Given the description of an element on the screen output the (x, y) to click on. 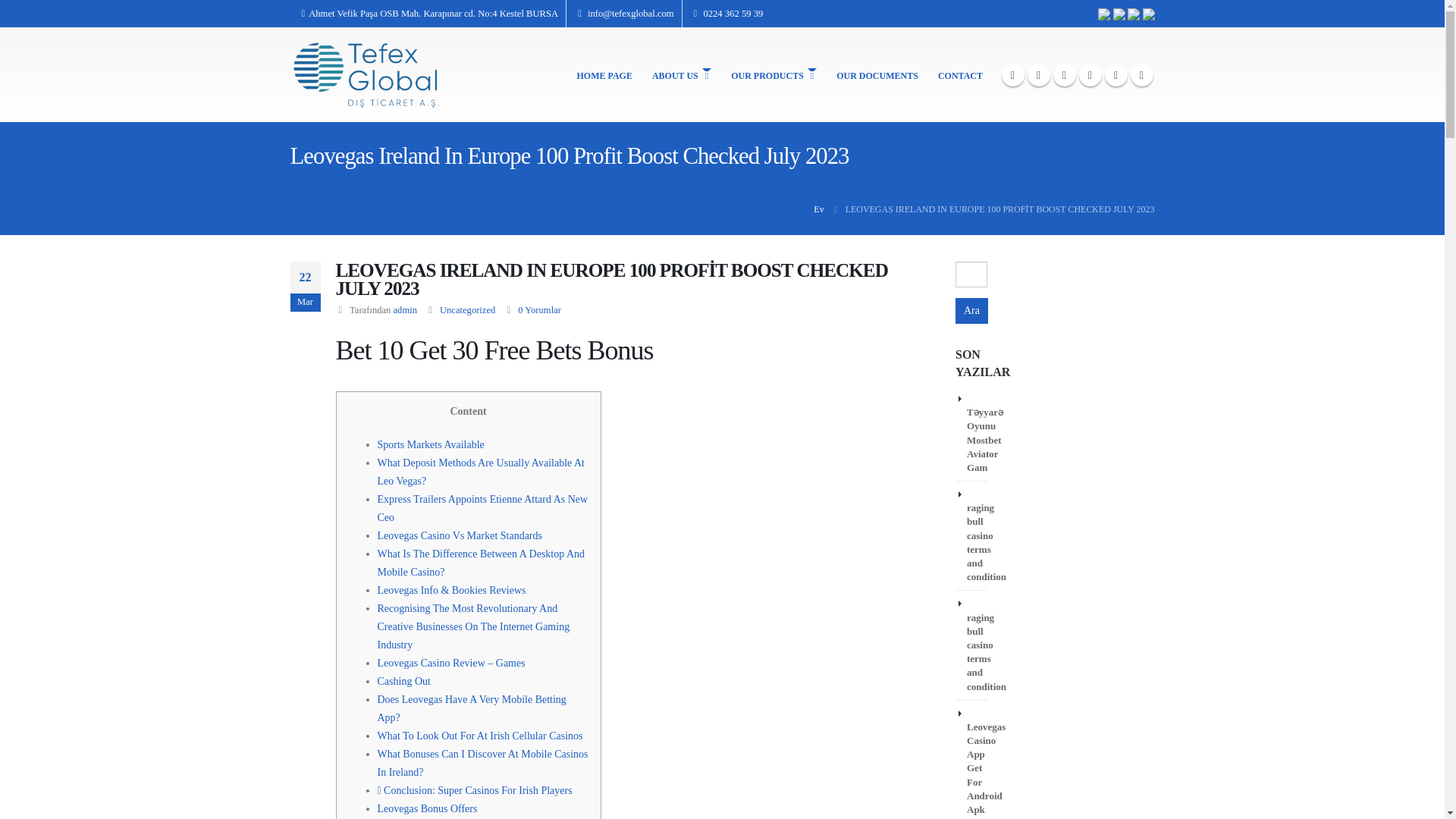
OUR PRODUCTS (773, 75)
OUR DOCUMENTS (877, 75)
pinterest (1063, 74)
0 Yorumlar (539, 309)
Youtube (1089, 74)
CONTACT (959, 75)
LinkedIn (1141, 74)
ABOUT US (681, 75)
HOME PAGE (603, 75)
Facebook (1012, 74)
Instagram (1114, 74)
heyecan (1037, 74)
Ara (971, 310)
Ev (818, 208)
